Given the description of an element on the screen output the (x, y) to click on. 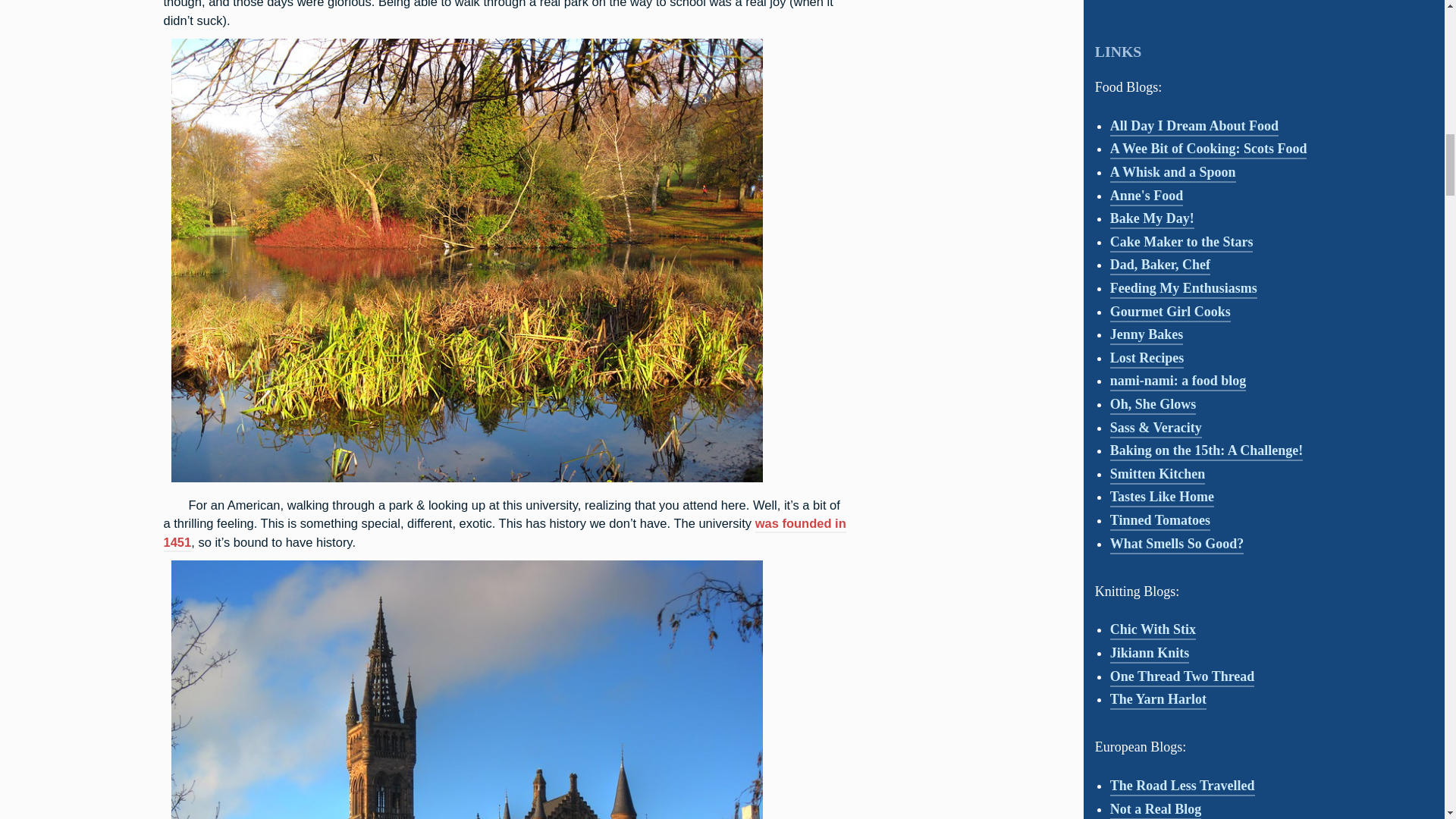
Kelvingrove Park 320 (466, 481)
was founded in 1451 (504, 534)
